Given the description of an element on the screen output the (x, y) to click on. 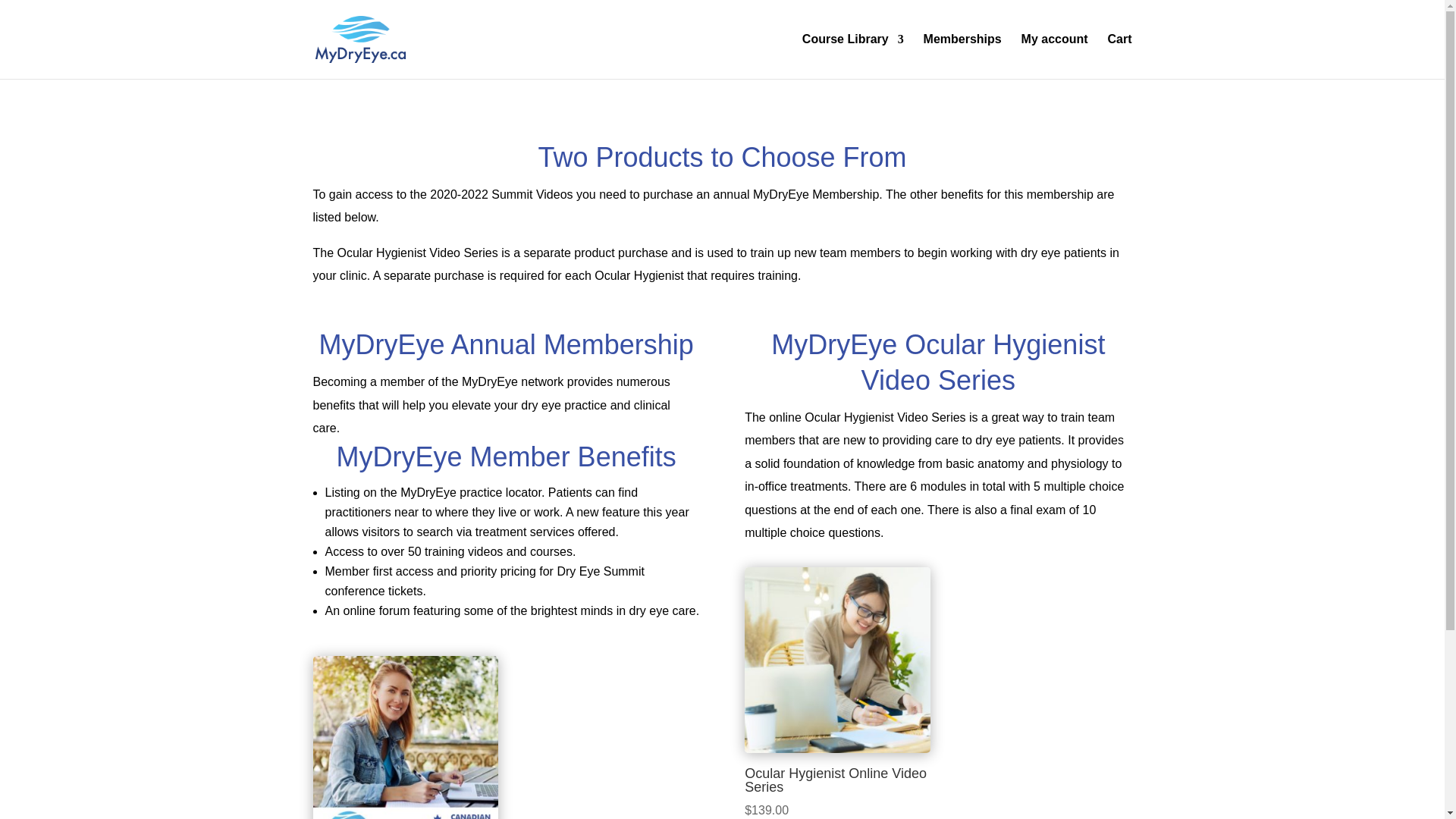
Memberships (962, 56)
Course Library (853, 56)
Cart (1118, 56)
My account (1054, 56)
